Given the description of an element on the screen output the (x, y) to click on. 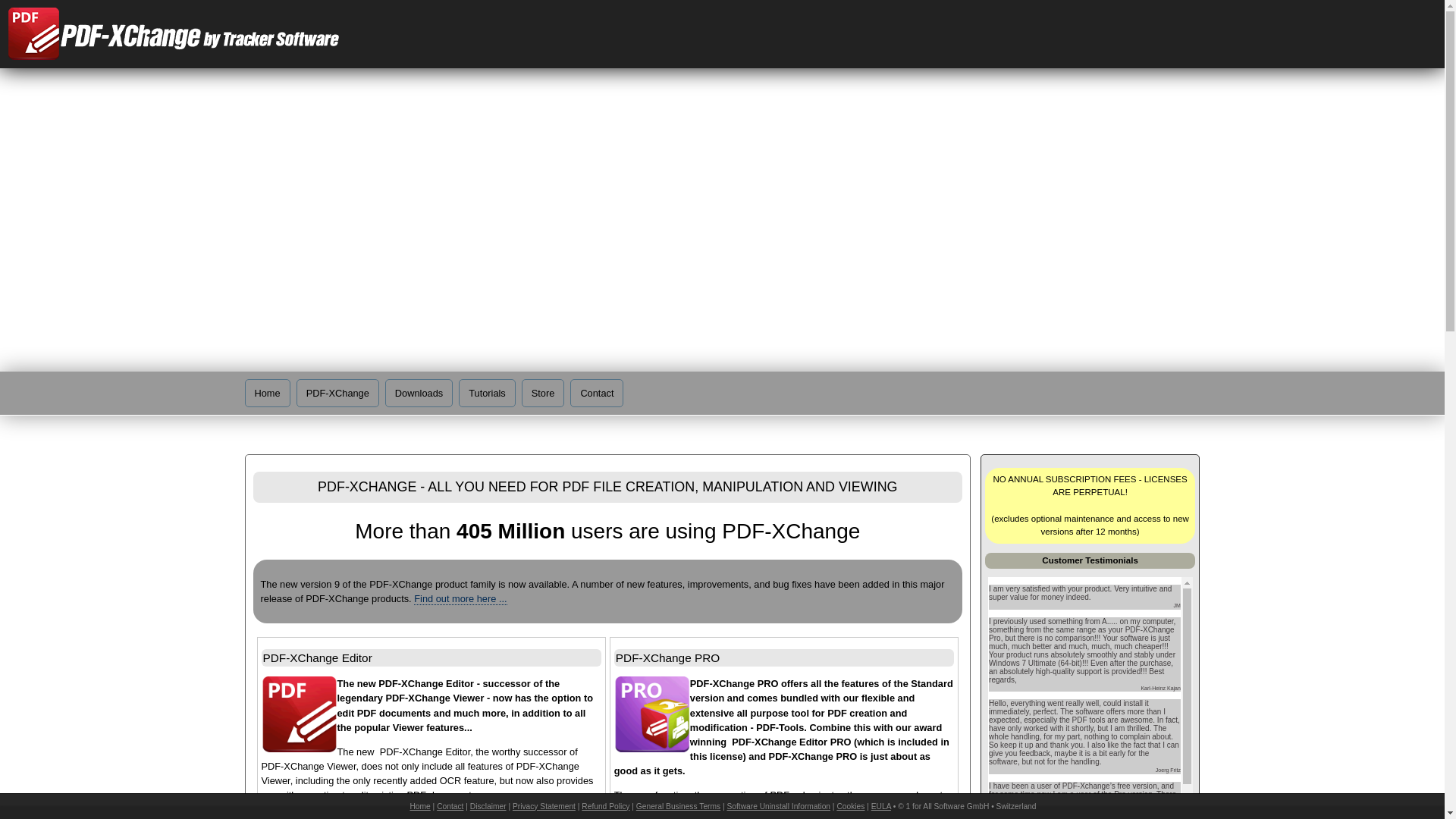
Find out more here ... Element type: text (460, 599)
Home Element type: text (419, 806)
Disclaimer Element type: text (488, 806)
Home Element type: text (266, 393)
Tutorials Element type: text (486, 393)
Cookies Element type: text (850, 806)
Software Uninstall Information Element type: text (778, 806)
Refund Policy Element type: text (605, 806)
PDF-XChange Element type: text (337, 393)
Store Element type: text (542, 393)
Privacy Statement Element type: text (543, 806)
Contact Element type: text (596, 393)
Contact Element type: text (449, 806)
Downloads Element type: text (418, 393)
General Business Terms Element type: text (678, 806)
EULA Element type: text (881, 806)
